Given the description of an element on the screen output the (x, y) to click on. 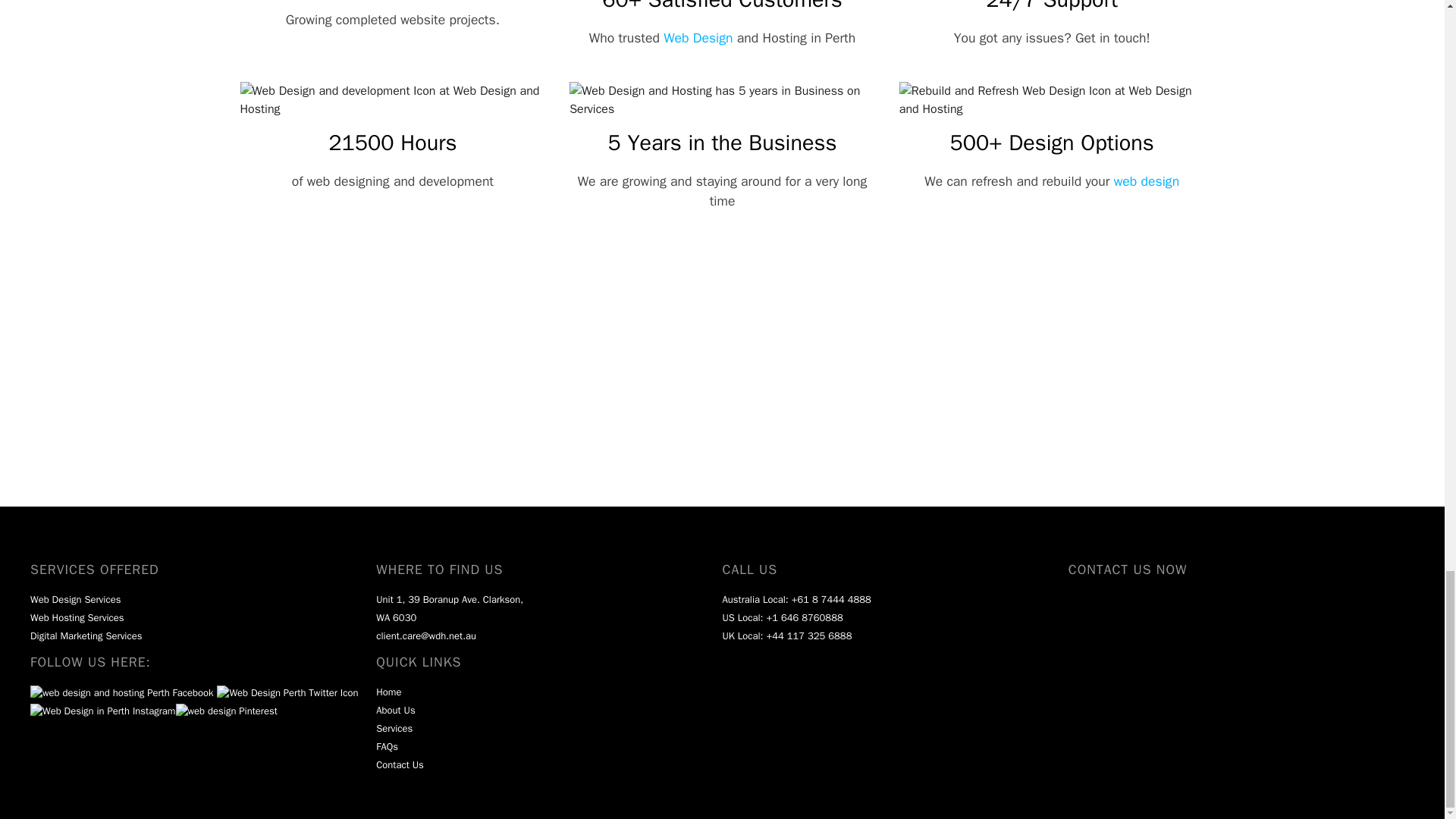
web design (1146, 180)
Web Hosting Services (76, 617)
Web Design (697, 37)
Website Design And Development 10 (392, 99)
Digital Marketing Services (85, 635)
Web Design Services (75, 599)
